Given the description of an element on the screen output the (x, y) to click on. 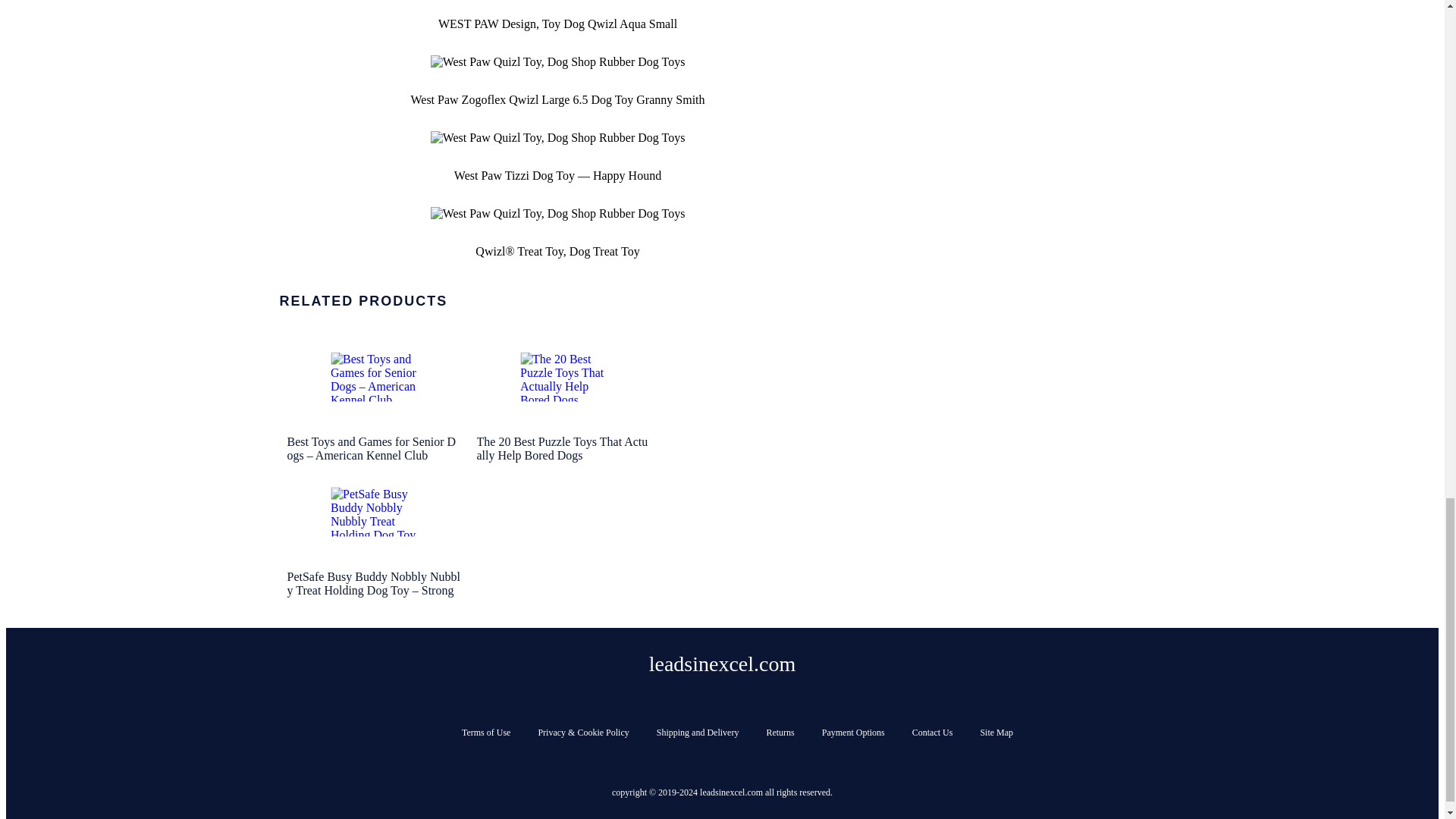
Returns (779, 732)
Contact Us (932, 732)
Terms of Use (486, 732)
The 20 Best Puzzle Toys That Actually Help Bored Dogs (563, 394)
Payment Options (853, 732)
Shipping and Delivery (697, 732)
The 20 Best Puzzle Toys That Actually Help Bored Dogs (563, 377)
Site Map (996, 732)
